Given the description of an element on the screen output the (x, y) to click on. 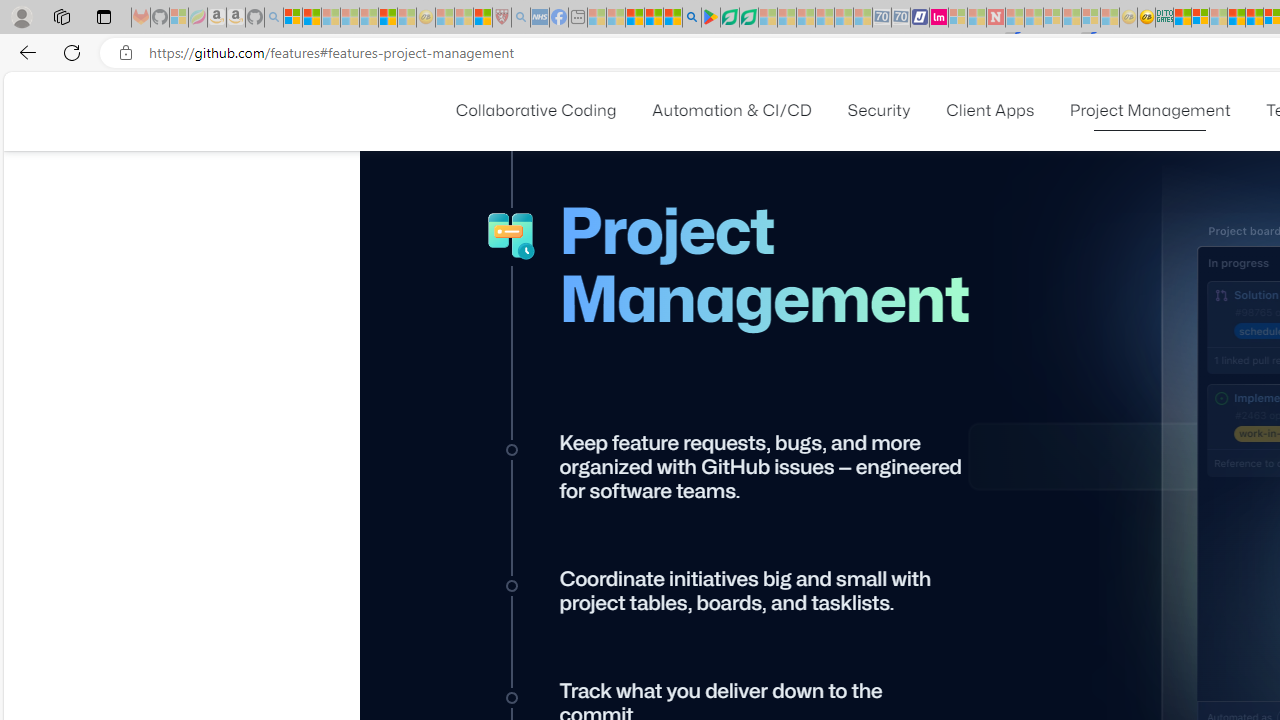
Security (879, 110)
Microsoft Start - Sleeping (976, 17)
Cheap Car Rentals - Save70.com - Sleeping (881, 17)
Tab actions menu (104, 16)
Expert Portfolios (1236, 17)
14 Common Myths Debunked By Scientific Facts - Sleeping (1034, 17)
MSNBC - MSN - Sleeping (596, 17)
Microsoft account | Privacy - Sleeping (957, 17)
Bluey: Let's Play! - Apps on Google Play (710, 17)
View site information (125, 53)
Terms of Use Agreement (729, 17)
